Given the description of an element on the screen output the (x, y) to click on. 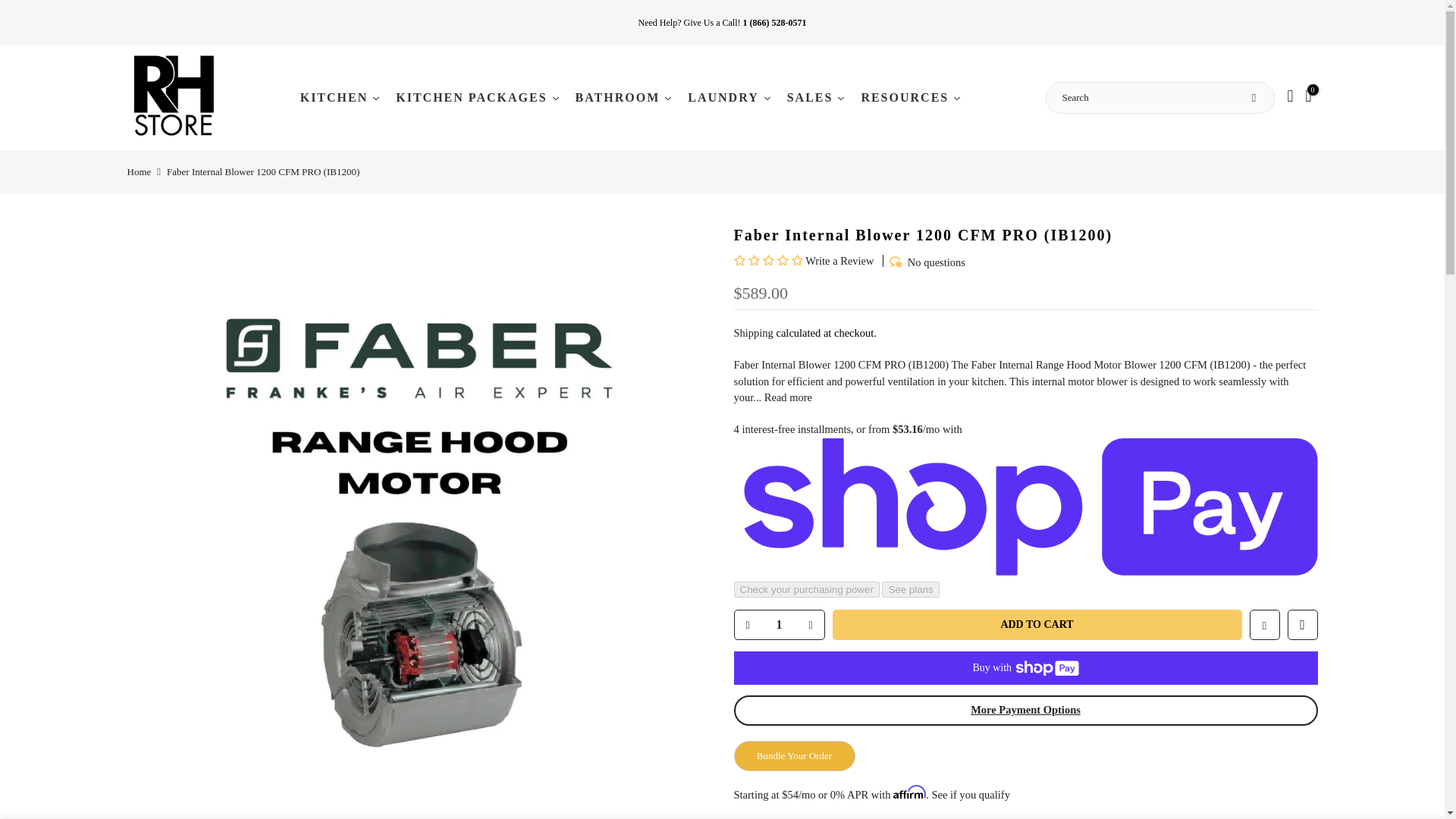
RESOURCES (911, 97)
Bundle Your Order (794, 756)
LAUNDRY (728, 97)
KITCHEN PACKAGES (477, 97)
Shipping (753, 332)
KITCHEN (340, 97)
More Payment Options (1025, 710)
LAUNDRY (728, 97)
SALES (815, 97)
SALES (815, 97)
RESOURCES (911, 97)
BATHROOM (624, 97)
KITCHEN PACKAGES (477, 97)
KITCHEN (340, 97)
See if you qualify (970, 794)
